Given the description of an element on the screen output the (x, y) to click on. 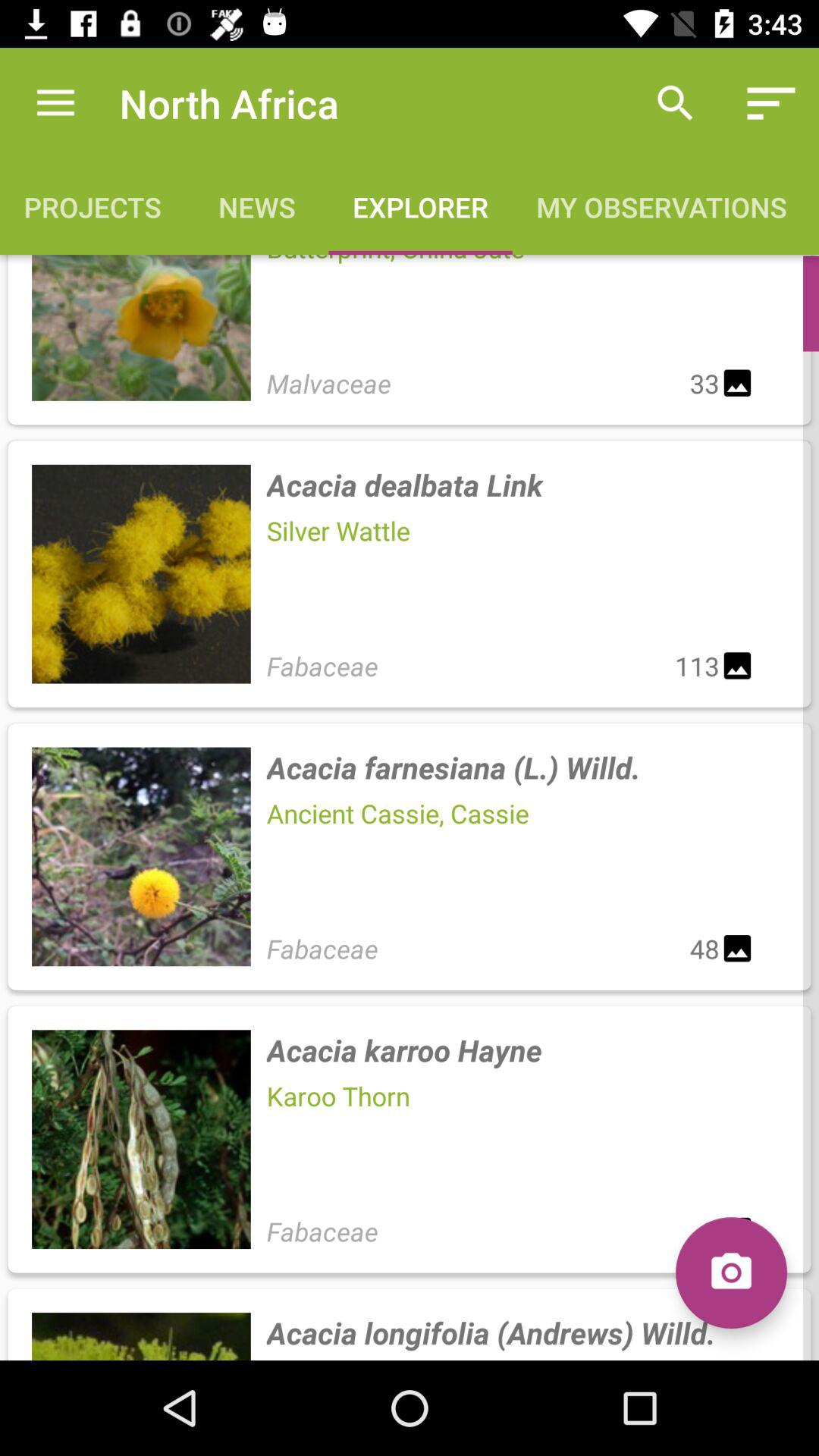
select item to the left of north africa item (55, 103)
